Given the description of an element on the screen output the (x, y) to click on. 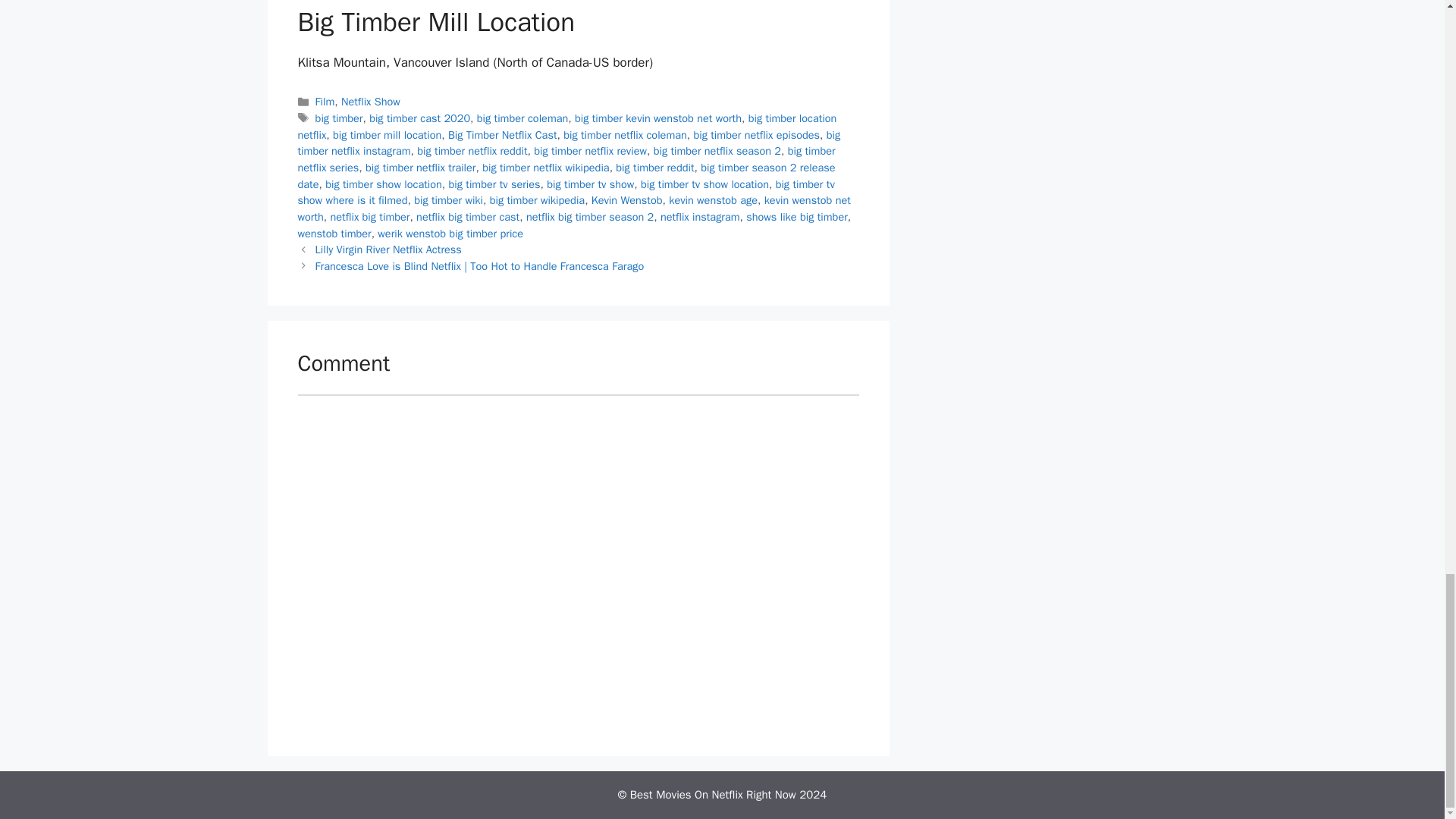
big timber kevin wenstob net worth (658, 118)
big timber netflix instagram (568, 142)
big timber netflix reddit (471, 151)
big timber netflix episodes (756, 134)
big timber netflix series (565, 159)
Film (324, 101)
big timber cast 2020 (419, 118)
big timber coleman (523, 118)
big timber netflix review (590, 151)
Netflix Show (370, 101)
Big Timber Netflix Cast (502, 134)
big timber netflix trailer (420, 167)
big timber netflix season 2 (716, 151)
big timber netflix coleman (625, 134)
